Given the description of an element on the screen output the (x, y) to click on. 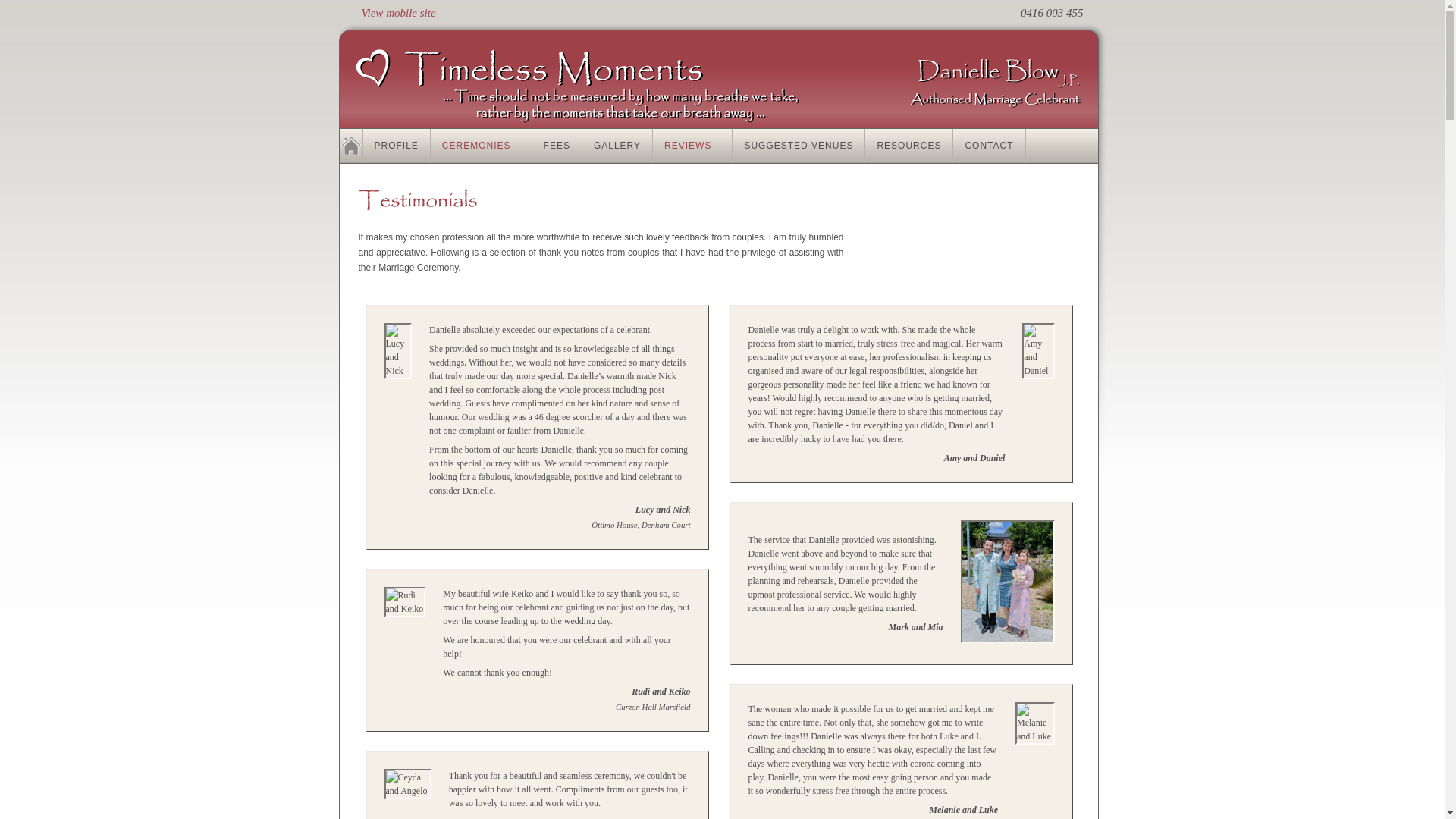
RESOURCES (908, 145)
REVIEWS (692, 145)
GALLERY (617, 145)
FEES (557, 145)
CONTACT (989, 145)
SUGGESTED VENUES (798, 145)
CEREMONIES (481, 145)
PROFILE (395, 145)
View mobile site (398, 12)
